Given the description of an element on the screen output the (x, y) to click on. 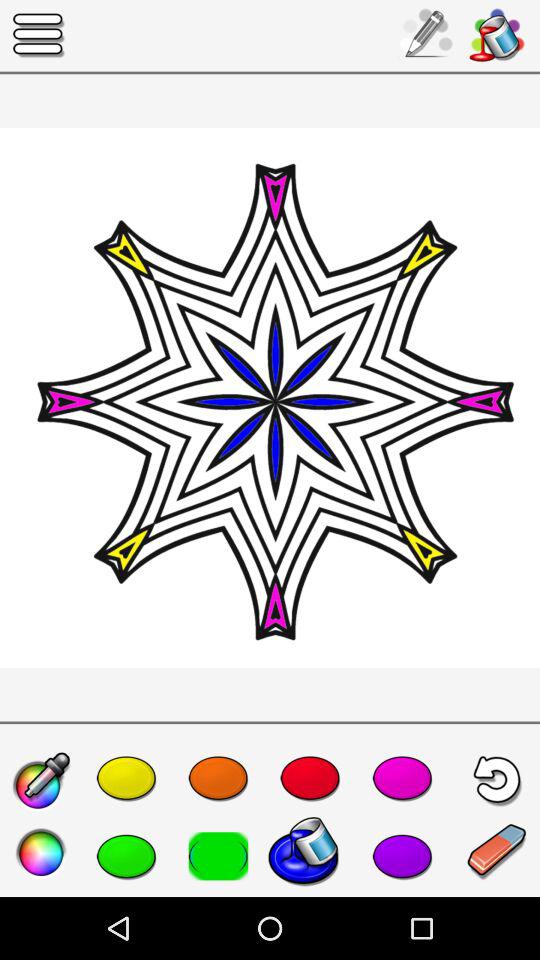
press the item at the center (270, 397)
